Given the description of an element on the screen output the (x, y) to click on. 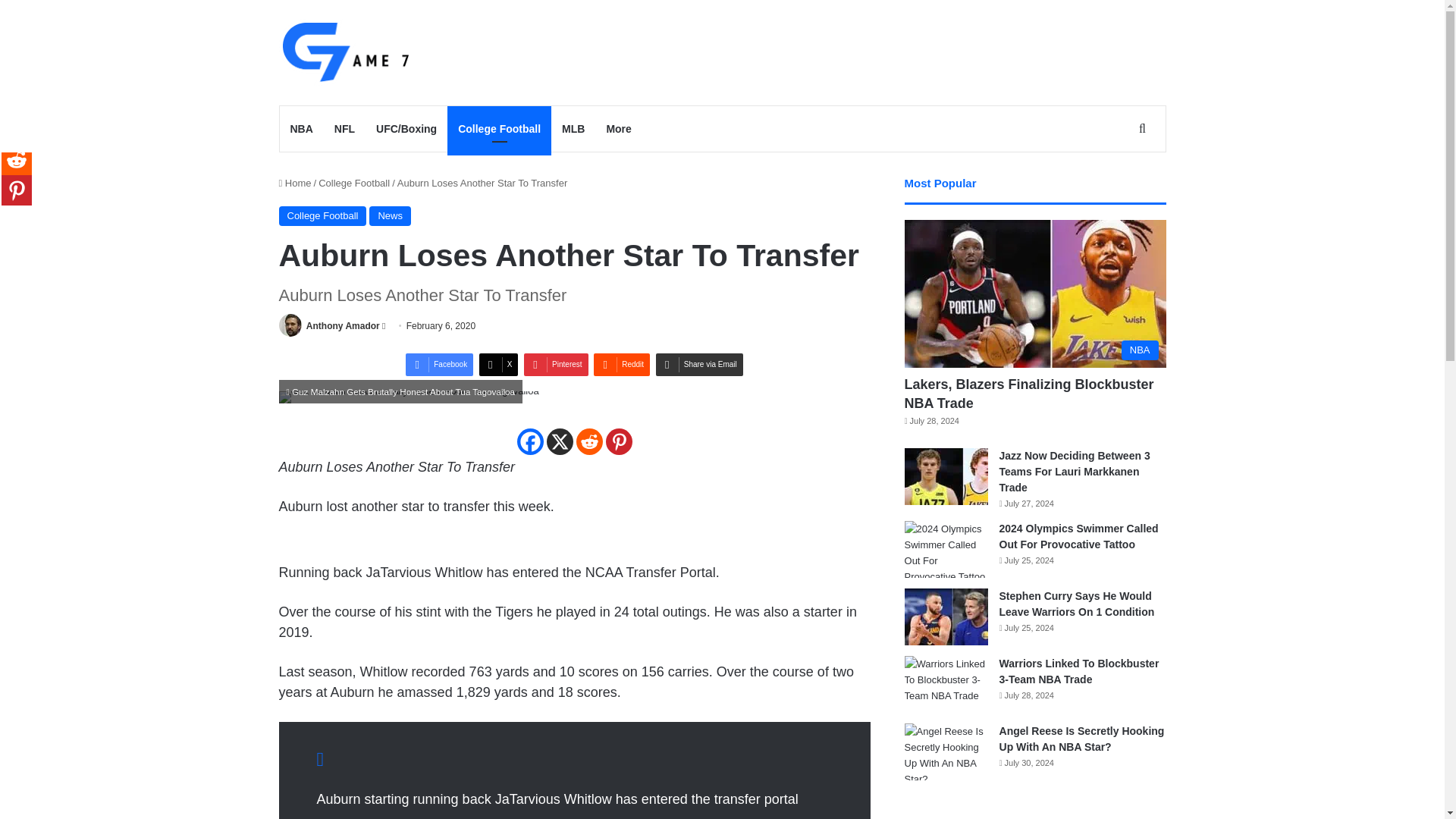
Anthony Amador (342, 326)
X (498, 363)
GAME 7 (344, 52)
College Football (354, 183)
Reddit (621, 363)
MLB (573, 128)
Anthony Amador (342, 326)
More (618, 128)
College Football (498, 128)
X (498, 363)
Share via Email (699, 363)
Pinterest (556, 363)
NBA (301, 128)
NFL (344, 128)
Pinterest (556, 363)
